Given the description of an element on the screen output the (x, y) to click on. 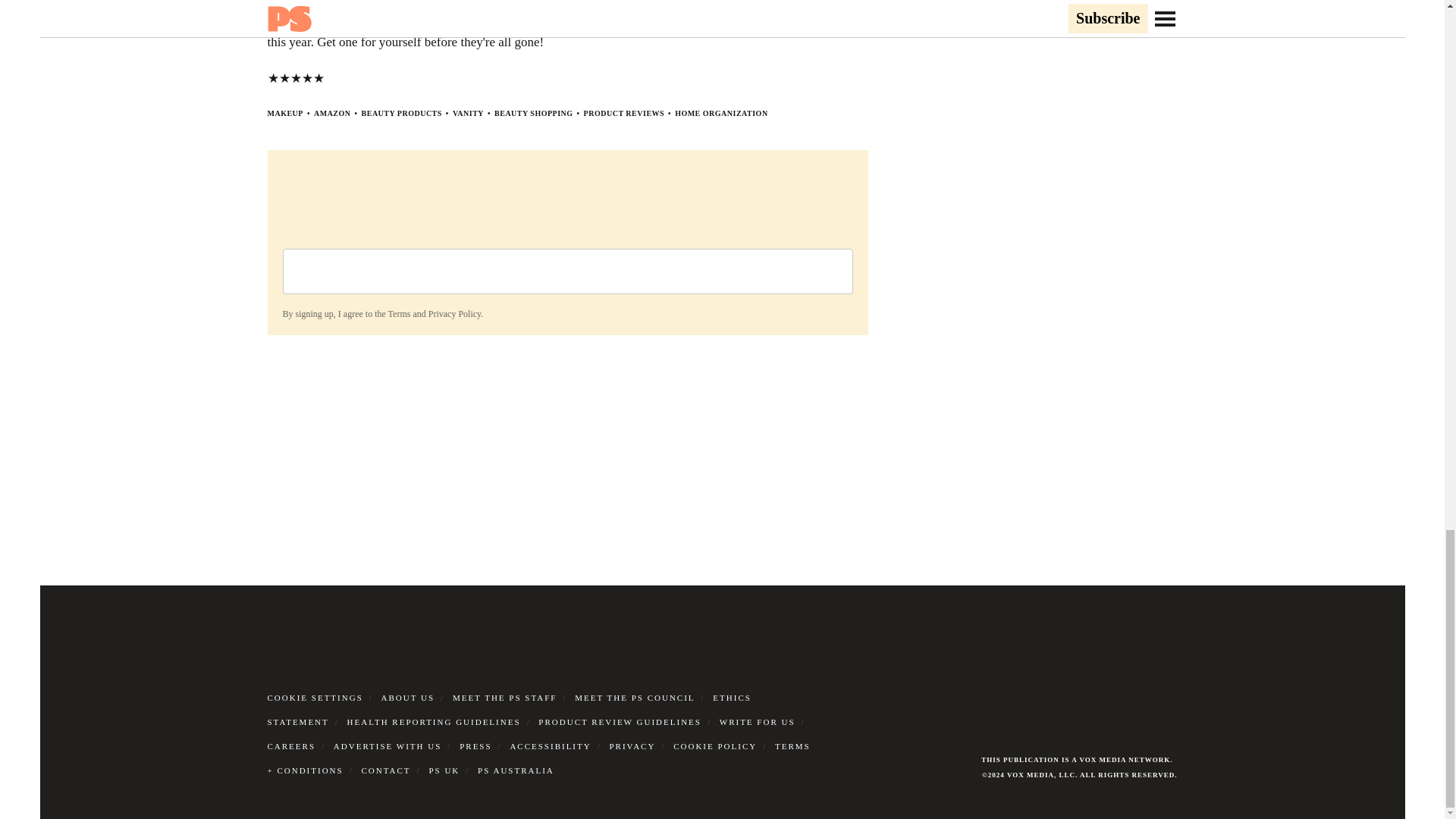
PRODUCT REVIEW GUIDELINES (619, 721)
AMAZON (332, 112)
ABOUT US (408, 697)
PRODUCT REVIEWS (624, 112)
BEAUTY PRODUCTS (401, 112)
Privacy Policy. (455, 313)
MEET THE PS COUNCIL (634, 697)
MAKEUP (284, 112)
WRITE FOR US (756, 721)
VANITY (467, 112)
